Given the description of an element on the screen output the (x, y) to click on. 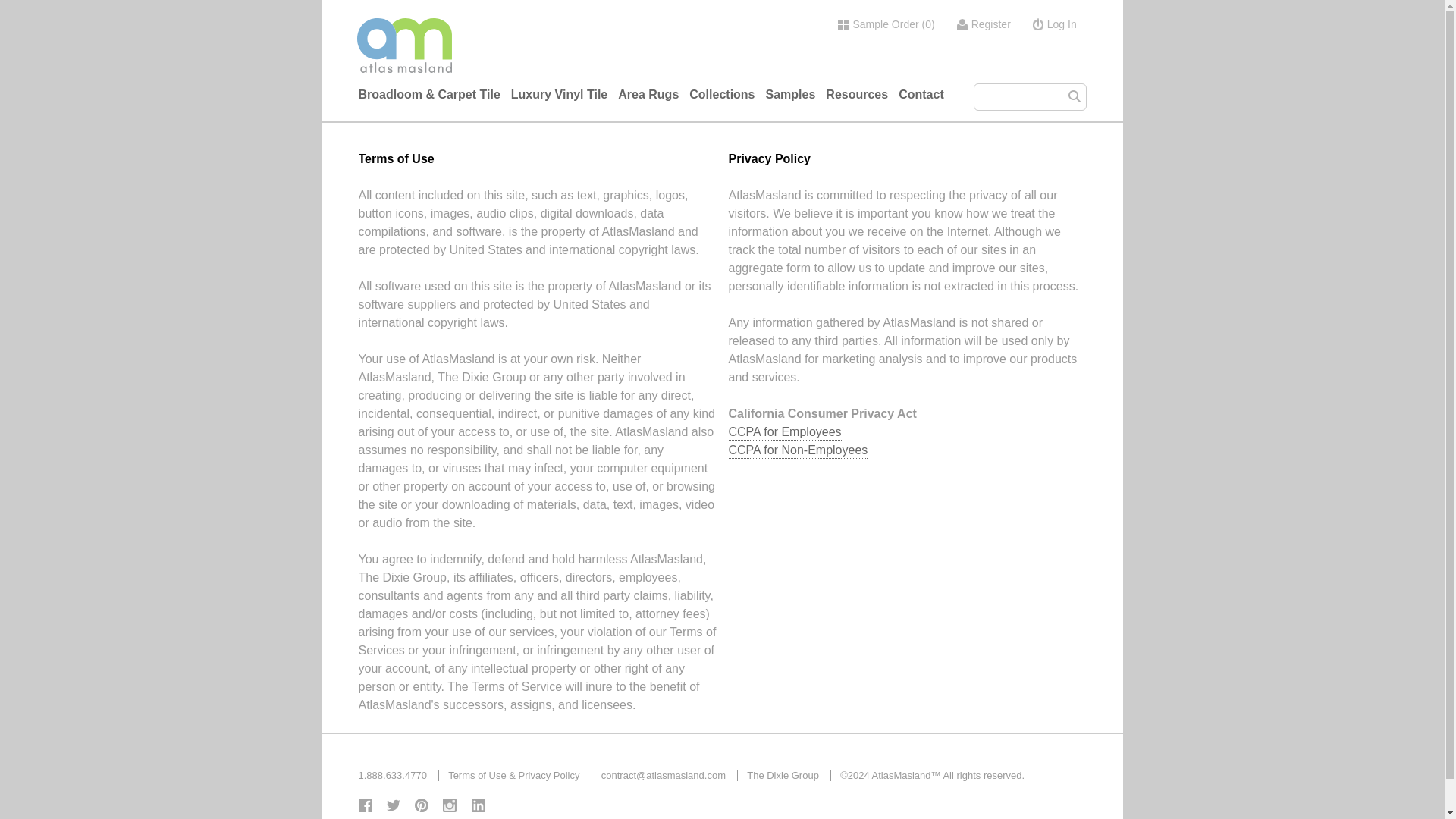
1.888.633.4770 (392, 775)
Collections (721, 94)
CCPA for Non-Employees (797, 450)
Contact (920, 94)
Area Rugs (647, 94)
Pinterest (421, 805)
CCPA for Employees (784, 432)
Resources (856, 94)
AtlasMasland (537, 61)
Instagram (449, 805)
